Given the description of an element on the screen output the (x, y) to click on. 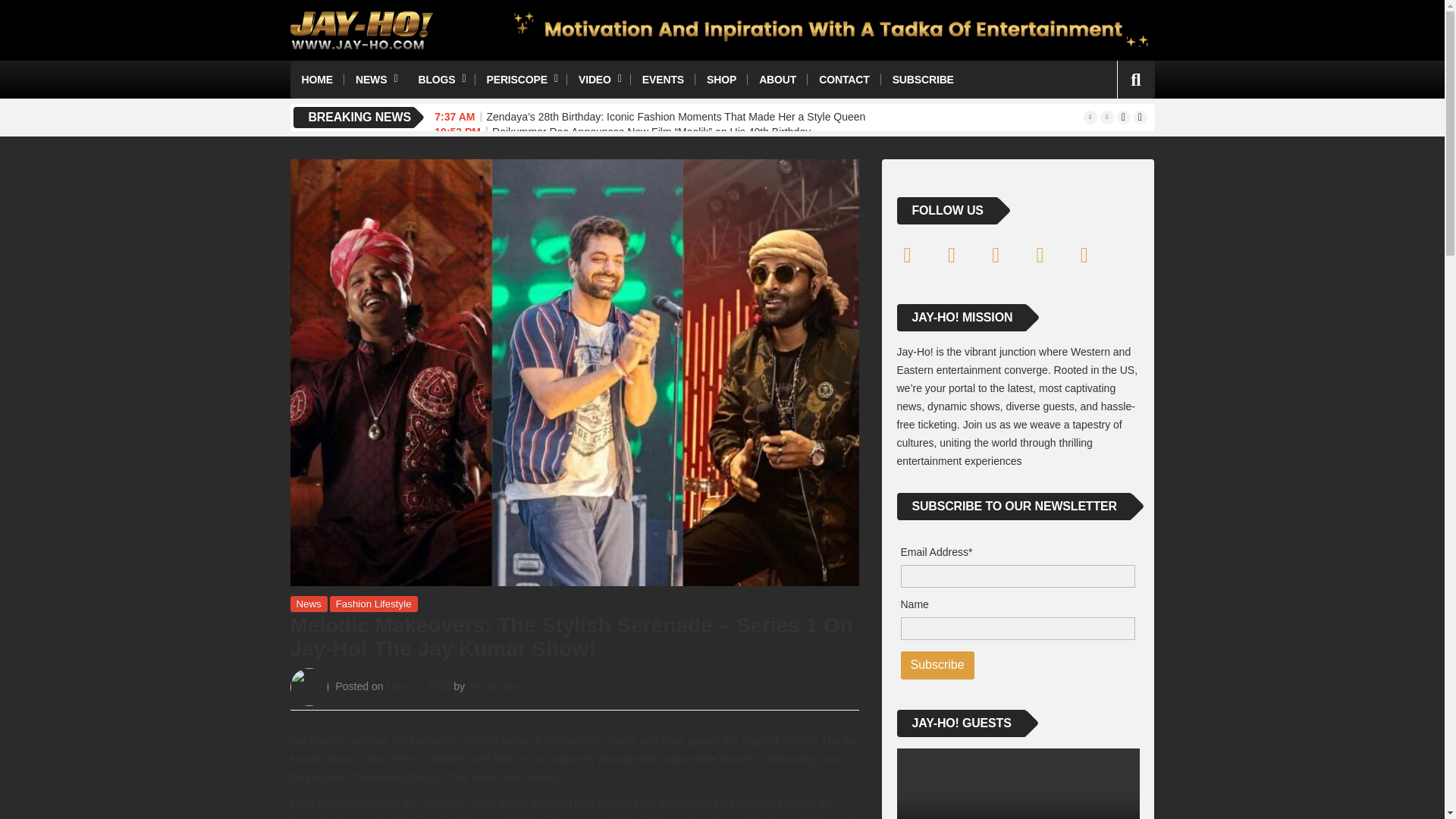
SHOP (721, 79)
VIDEO (598, 79)
HOME (316, 79)
ABOUT (778, 79)
PERISCOPE (520, 79)
NEWS (374, 79)
BLOGS (440, 79)
EVENTS (662, 79)
CONTACT (844, 79)
Subscribe (937, 665)
